Given the description of an element on the screen output the (x, y) to click on. 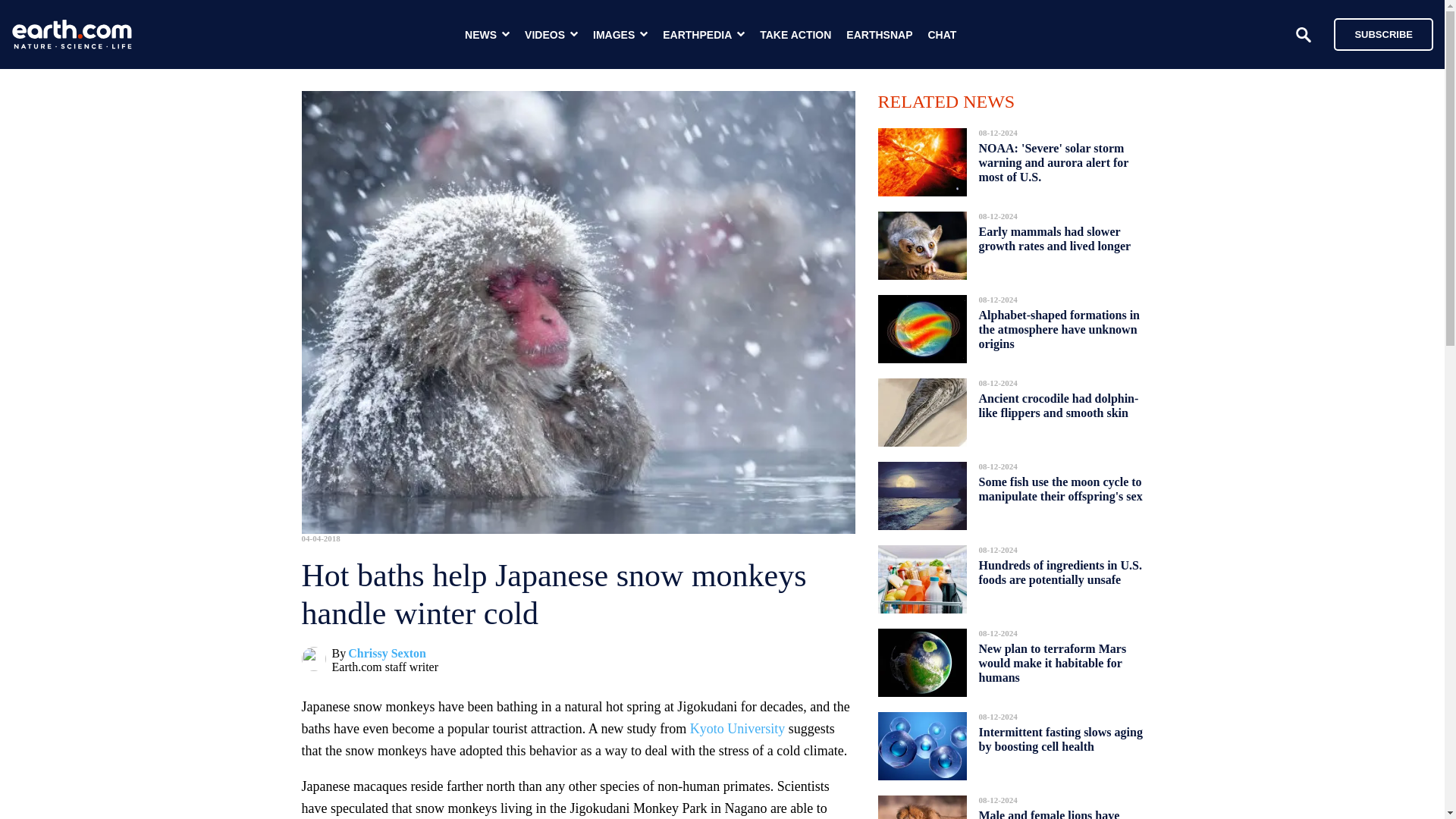
CHAT (941, 34)
SUBSCRIBE (1375, 33)
EARTHSNAP (878, 34)
Kyoto University (738, 728)
Hundreds of ingredients in U.S. foods are potentially unsafe (1059, 572)
Ancient crocodile had dolphin-like flippers and smooth skin (1058, 405)
Early mammals had slower growth rates and lived longer  (1055, 238)
